Given the description of an element on the screen output the (x, y) to click on. 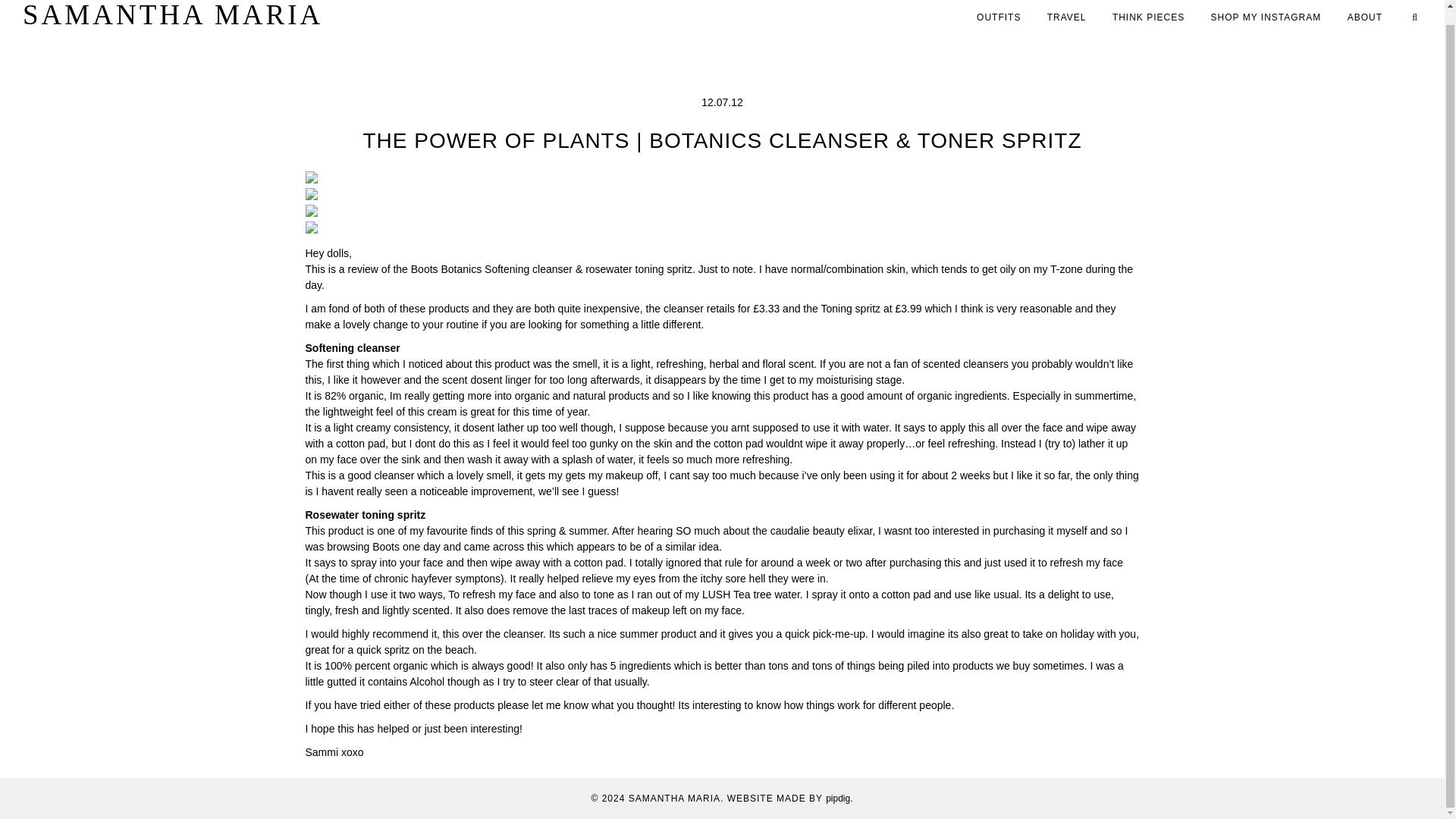
THINK PIECES (1148, 17)
ABOUT (1364, 17)
TRAVEL (1066, 17)
SHOP MY INSTAGRAM (1266, 17)
SAMANTHA MARIA (173, 15)
OUTFITS (998, 17)
WEBSITE MADE BY pipdig (788, 797)
